Given the description of an element on the screen output the (x, y) to click on. 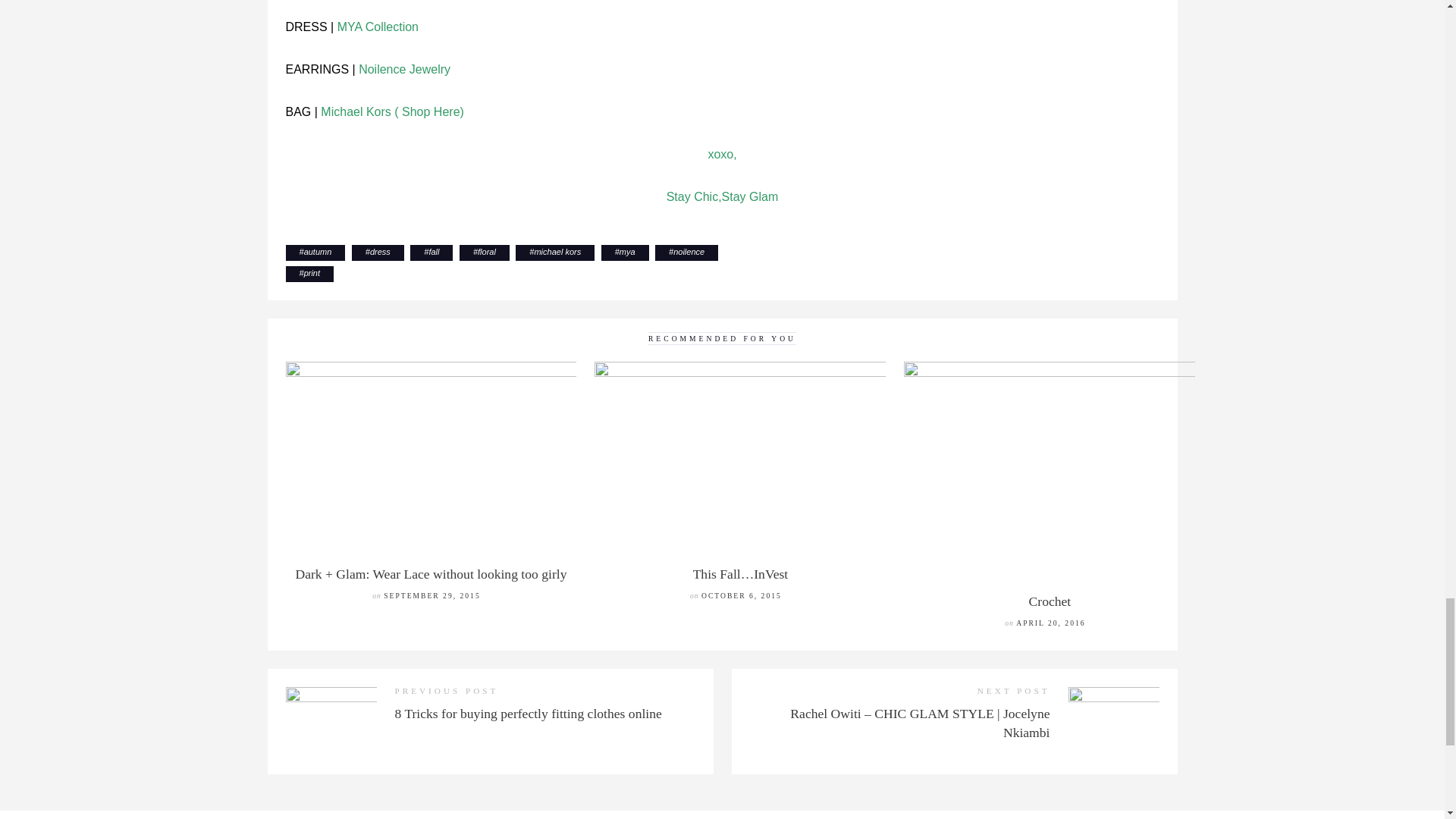
fall (433, 251)
print (312, 272)
michael kors (557, 251)
noilence (688, 251)
mya (627, 251)
autumn (317, 251)
dress (379, 251)
floral (486, 251)
